Given the description of an element on the screen output the (x, y) to click on. 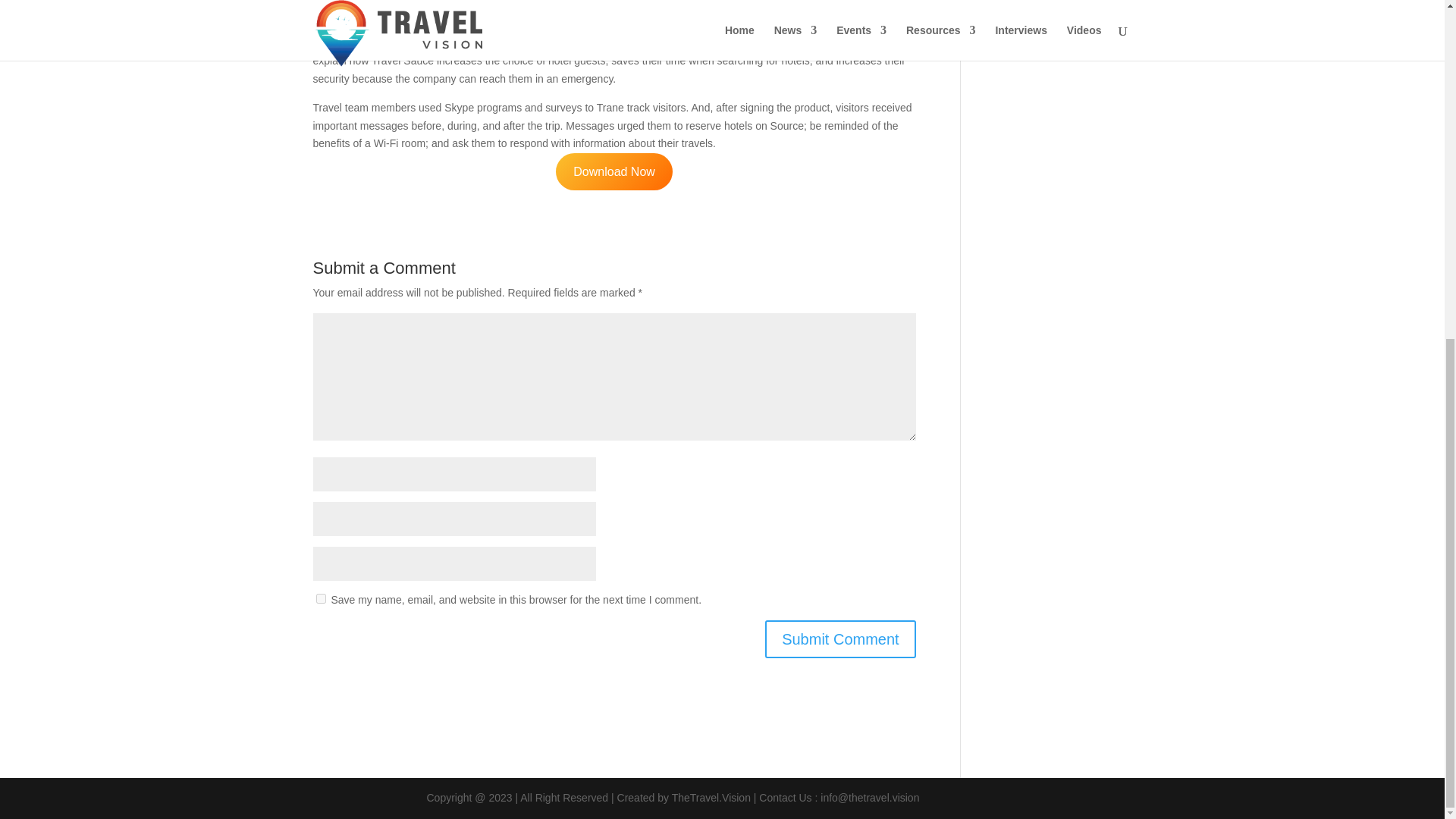
Download Now (614, 171)
Submit Comment (840, 638)
yes (319, 598)
app (427, 1)
Submit Comment (840, 638)
